Given the description of an element on the screen output the (x, y) to click on. 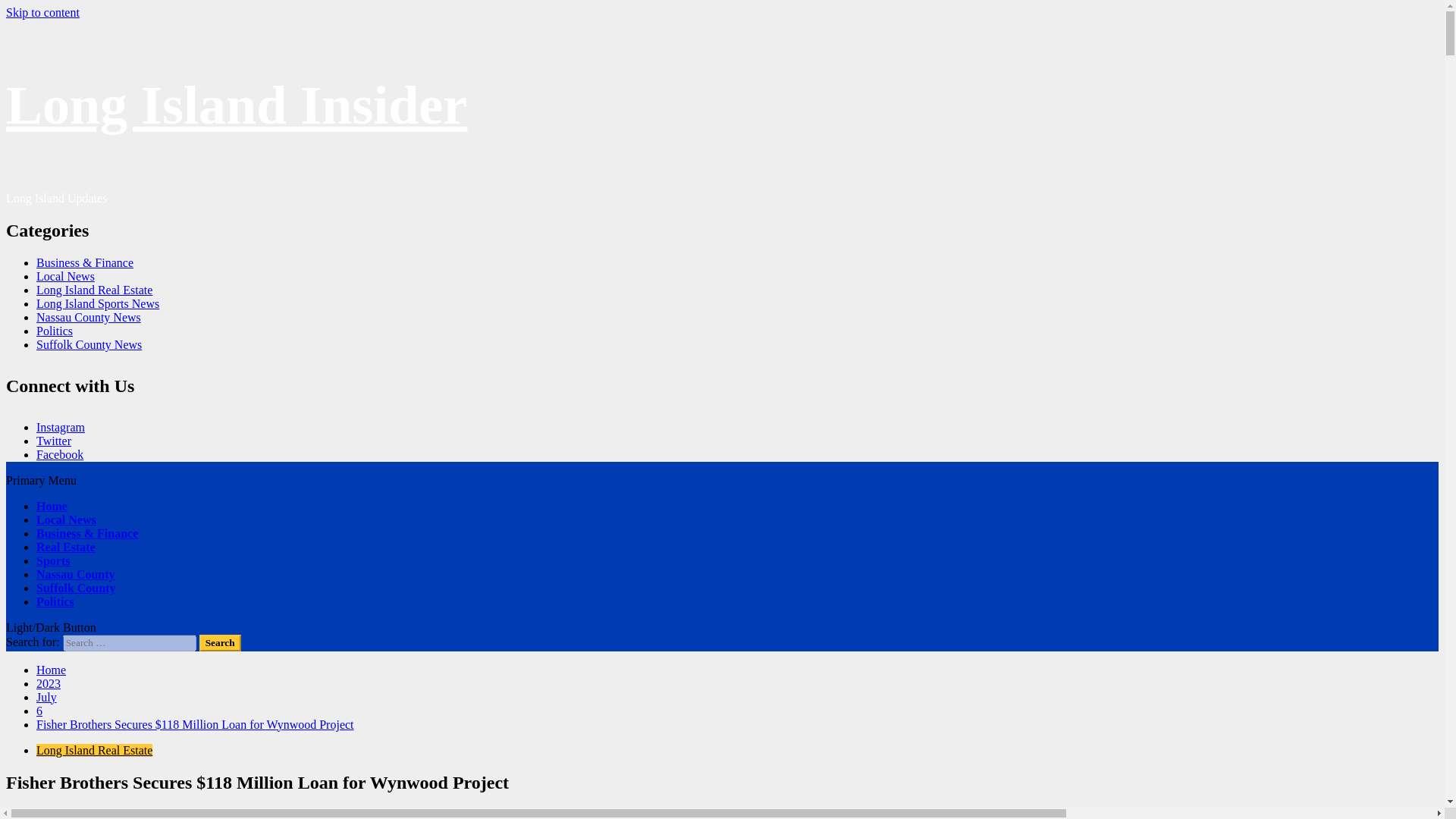
Facebook (59, 454)
Home (50, 669)
Skip to content (42, 11)
Suffolk County (75, 587)
July (46, 697)
Nassau County (75, 574)
Long Island Insider (236, 105)
Primary Menu (41, 480)
2023 (48, 683)
Long Island Real Estate (94, 289)
